Given the description of an element on the screen output the (x, y) to click on. 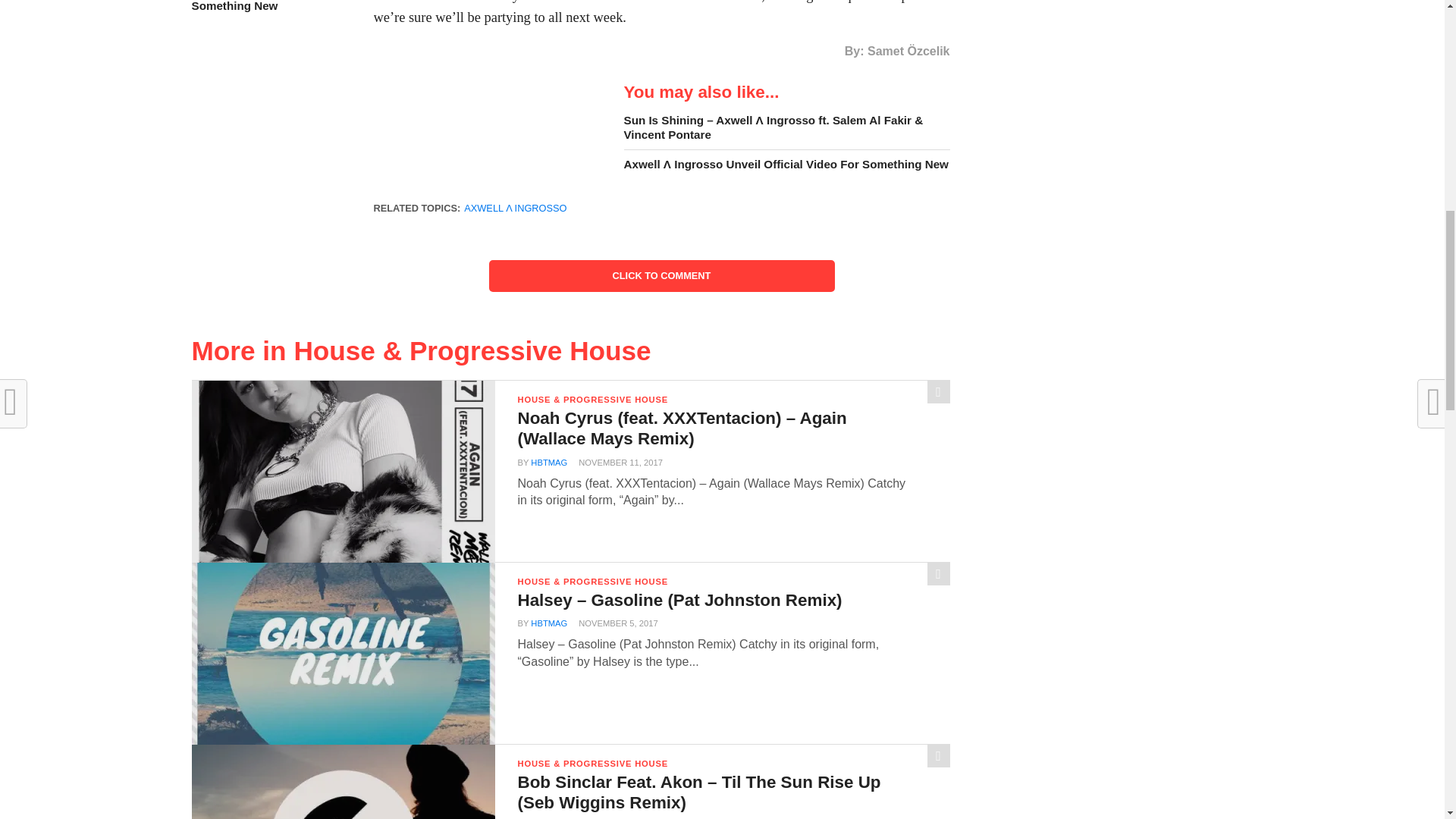
Posts by hbtmag (549, 461)
Posts by hbtmag (549, 623)
